Given the description of an element on the screen output the (x, y) to click on. 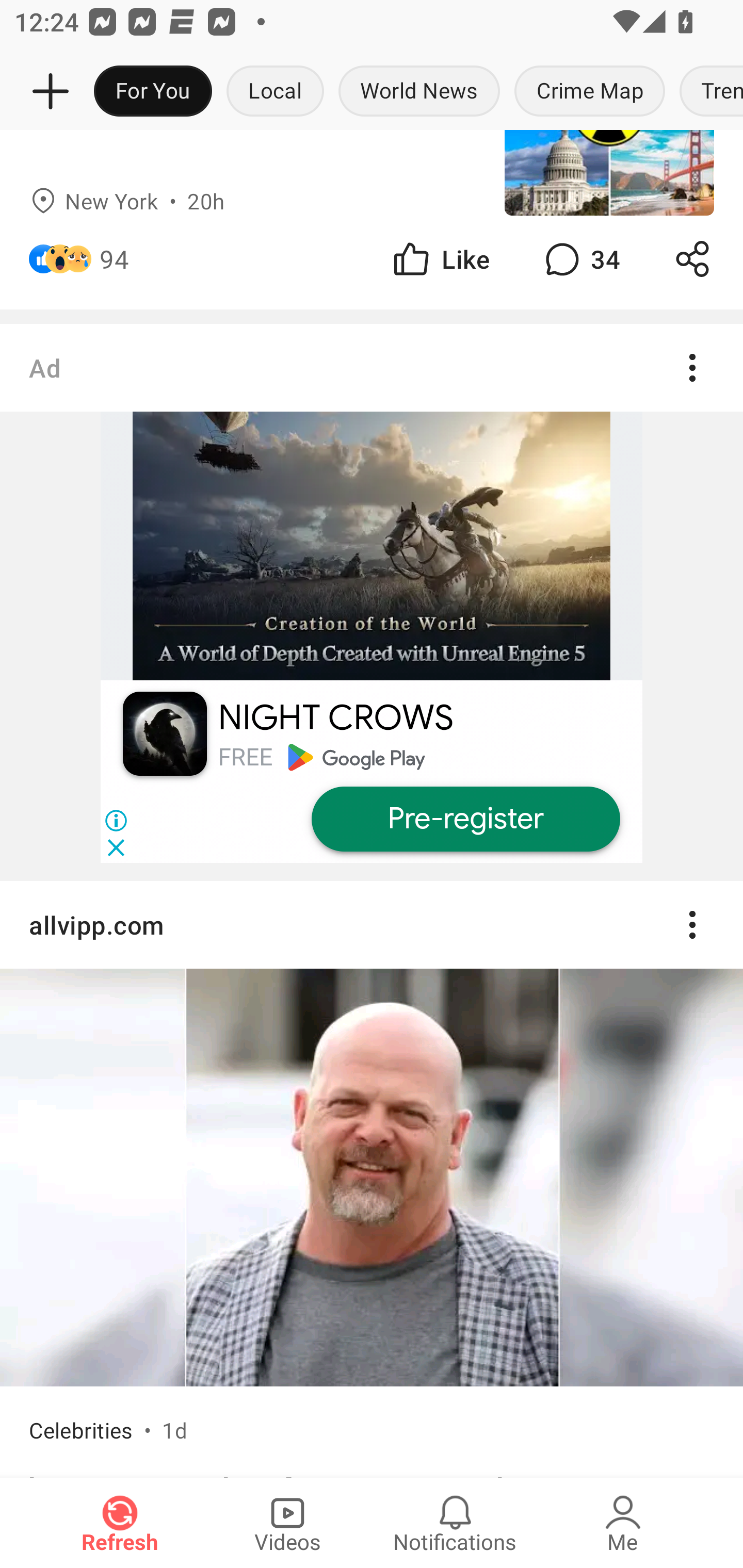
For You (152, 91)
Local (275, 91)
World News (419, 91)
Crime Map (589, 91)
94 (114, 259)
Like (439, 259)
34 (579, 259)
NIGHT CROWS (335, 717)
FREE (245, 757)
Pre-register (464, 818)
allvipp.com (371, 925)
Videos (287, 1522)
Notifications (455, 1522)
Me (622, 1522)
